Given the description of an element on the screen output the (x, y) to click on. 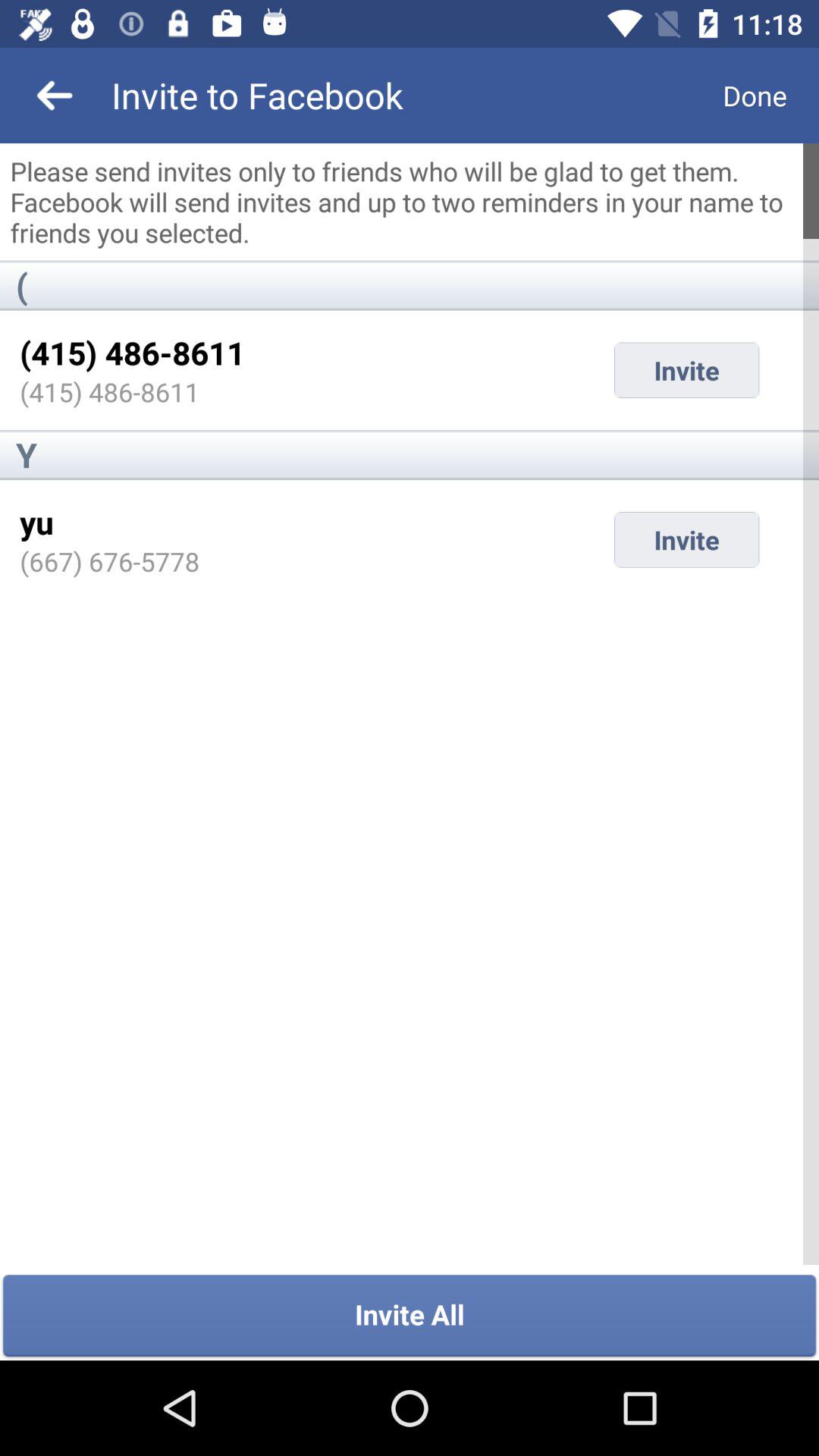
press the item below the (667) 676-5778 icon (409, 1316)
